Given the description of an element on the screen output the (x, y) to click on. 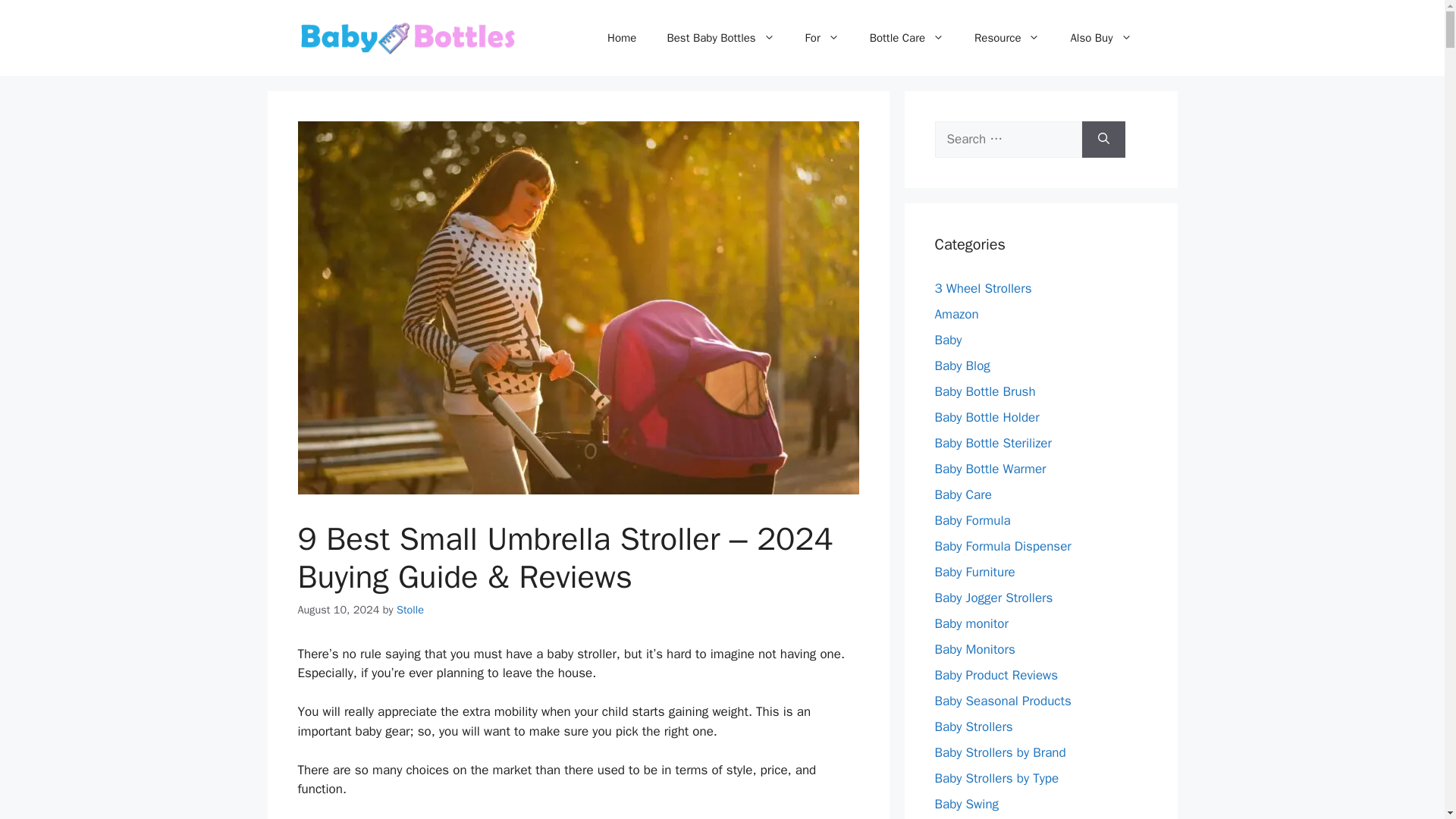
Stolle (409, 609)
For (822, 37)
Also Buy (1100, 37)
Bottle Care (906, 37)
Home (621, 37)
View all posts by Stolle (409, 609)
Best Baby Bottles (719, 37)
Resource (1006, 37)
